Given the description of an element on the screen output the (x, y) to click on. 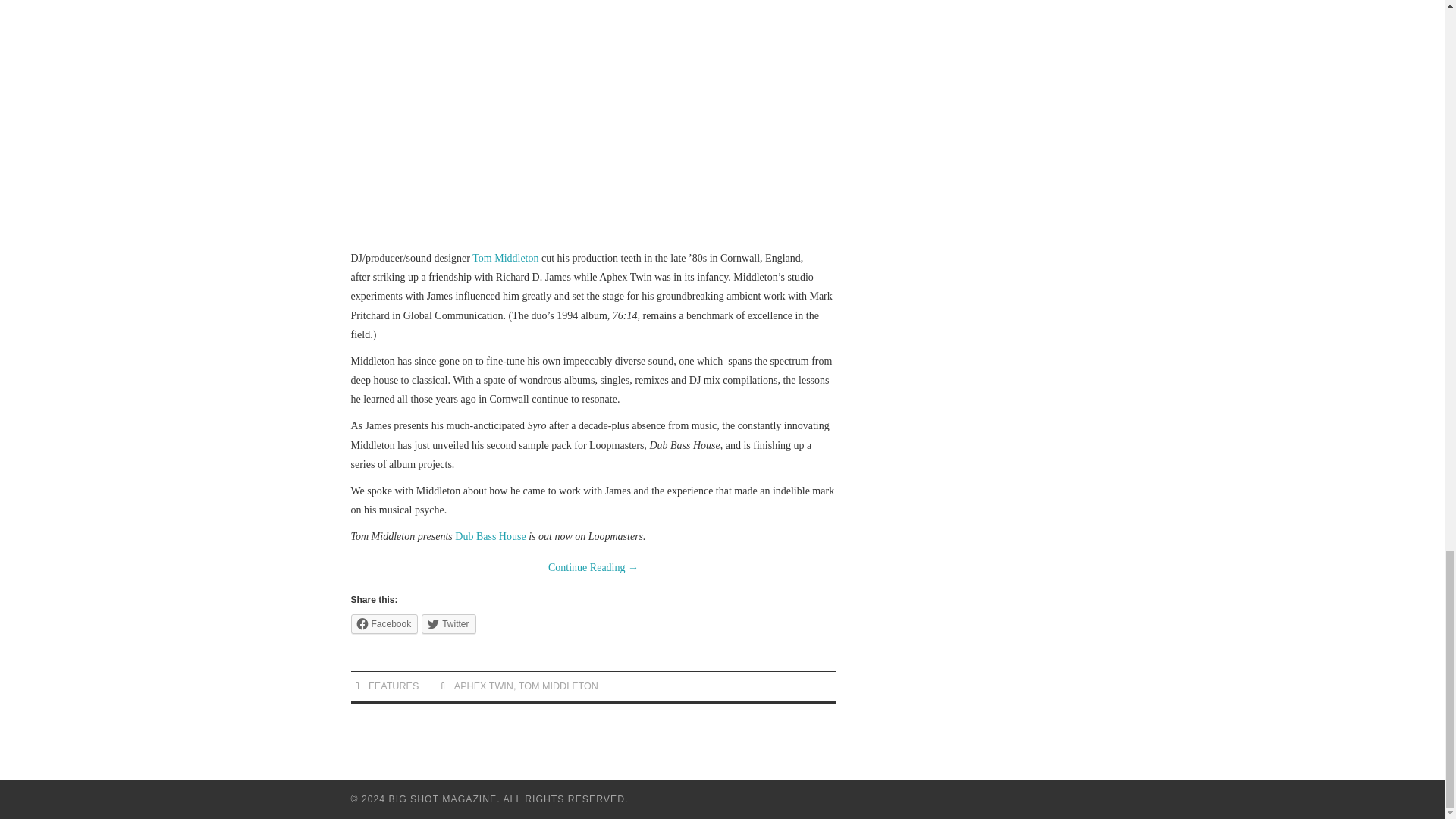
Dub Bass House (489, 536)
Tom Middleton (504, 257)
Facebook (383, 623)
Click to share on Twitter (449, 623)
Click to share on Facebook (383, 623)
Twitter (449, 623)
